Given the description of an element on the screen output the (x, y) to click on. 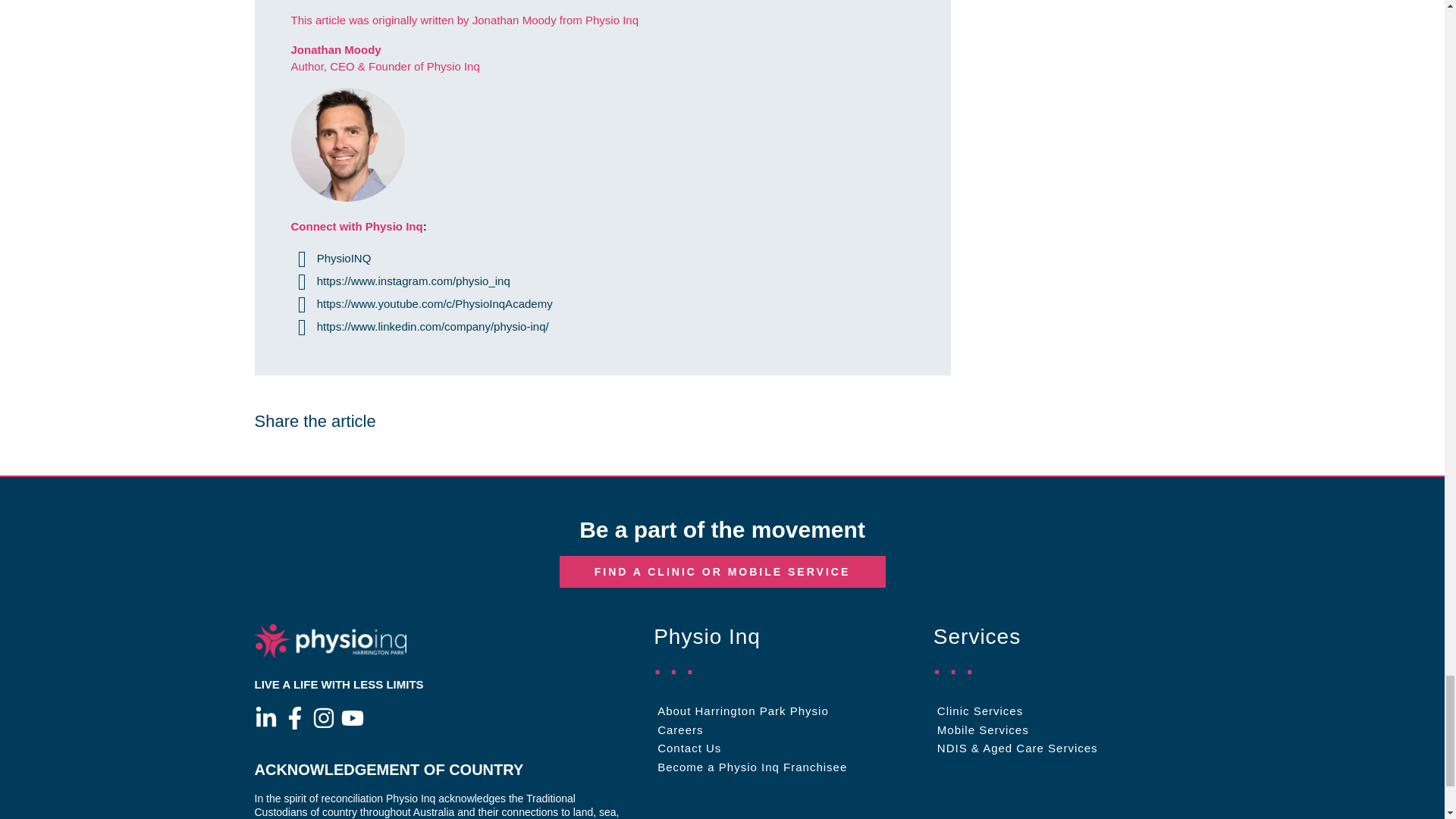
Jonathan Moody (336, 49)
